Given the description of an element on the screen output the (x, y) to click on. 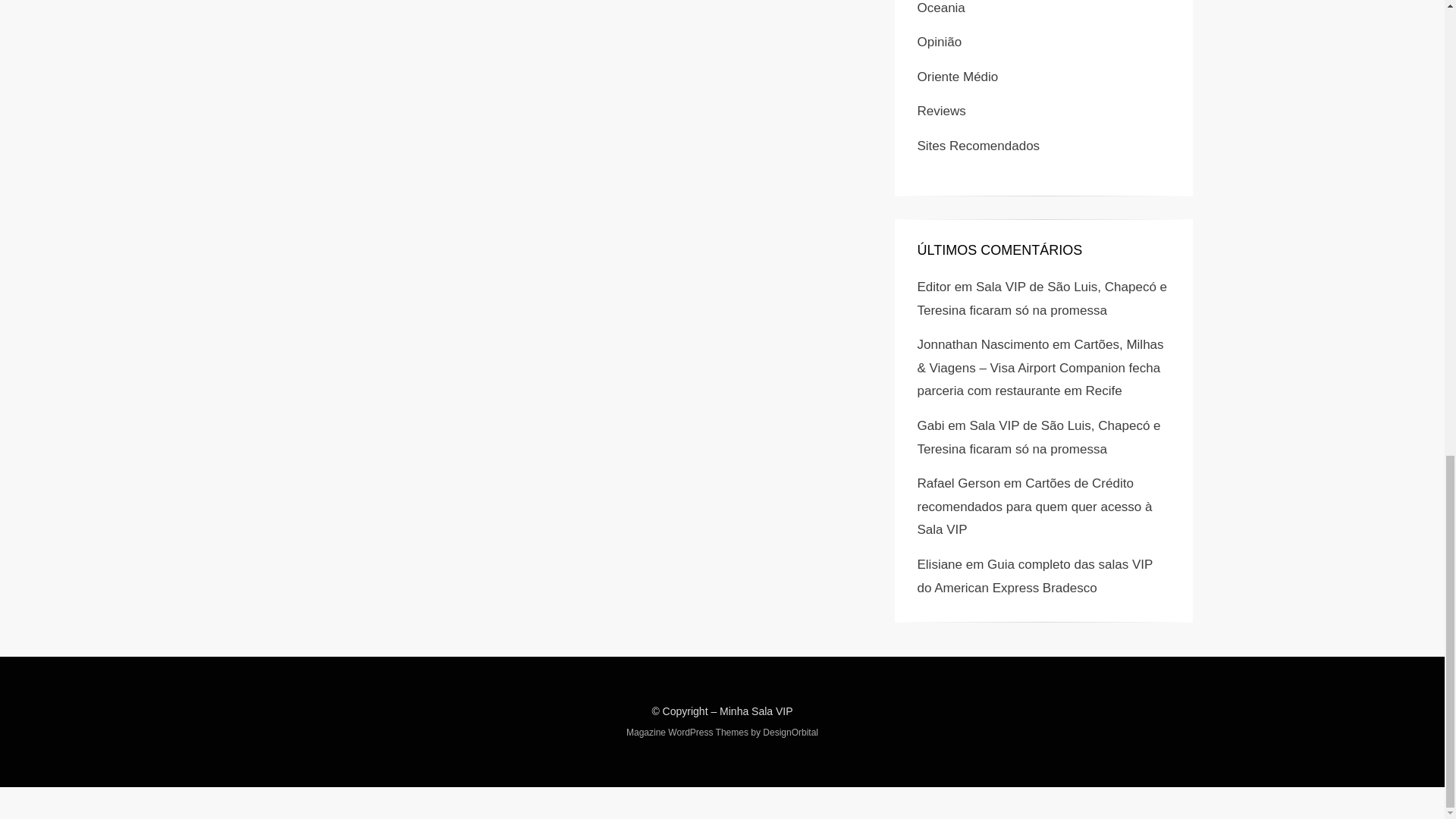
Magazine WordPress Themes (687, 732)
Guia completo das salas VIP do American Express Bradesco (1035, 576)
Minha Sala VIP (756, 711)
Oceania (941, 7)
Sites Recomendados (979, 145)
Reviews (941, 110)
Magazine WordPress Themes (687, 732)
